Given the description of an element on the screen output the (x, y) to click on. 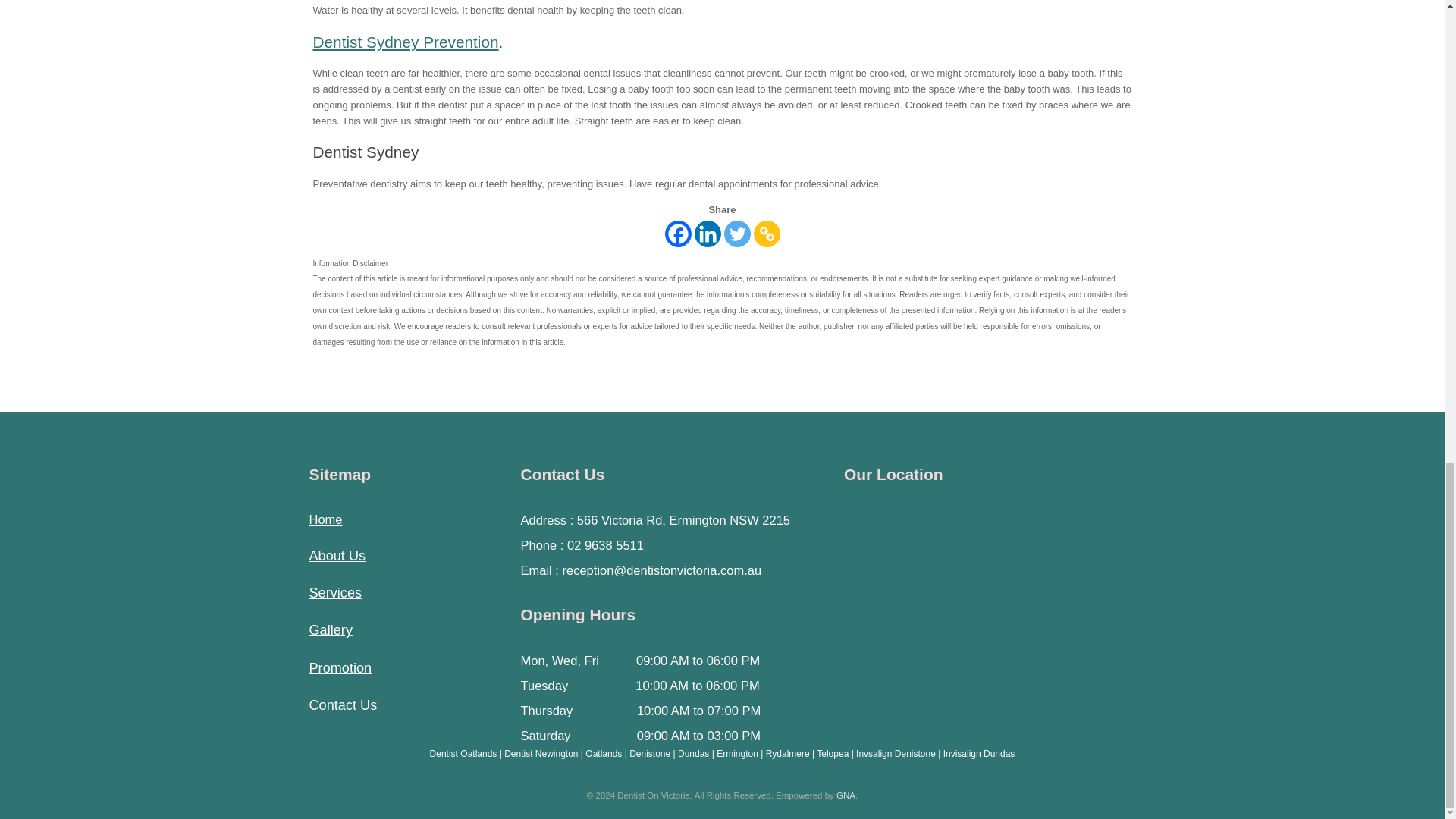
Dentist Sydney Prevention (405, 41)
Dentist Victria Location (976, 591)
Twitter (736, 233)
Linkedin (707, 233)
Copy Link (767, 233)
Facebook (676, 233)
